Given the description of an element on the screen output the (x, y) to click on. 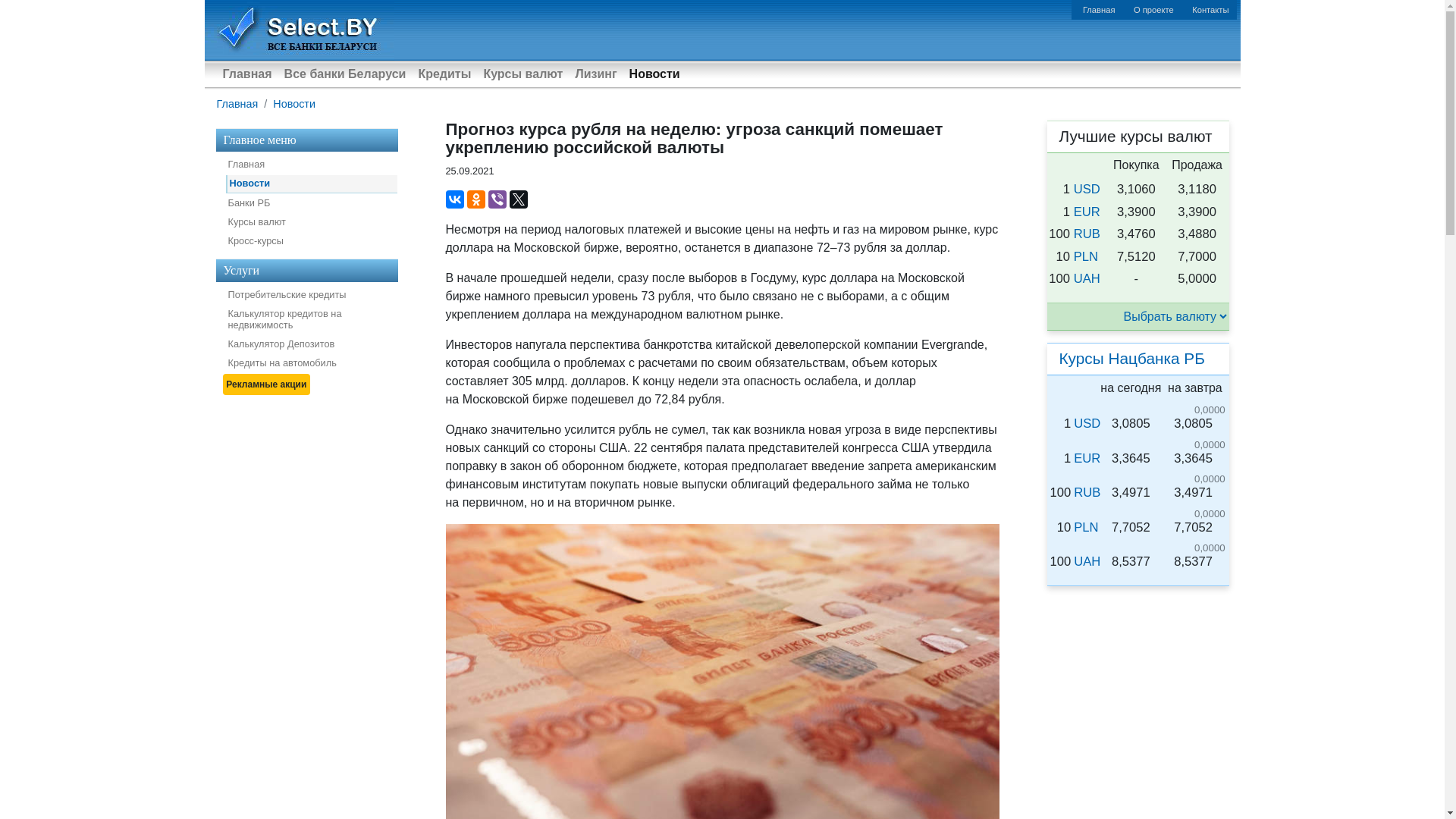
EUR Element type: text (1086, 659)
RUB Element type: text (1086, 694)
UAH Element type: text (1086, 480)
UAH Element type: text (1086, 763)
EUR Element type: text (1086, 413)
USD Element type: text (1086, 625)
PLN Element type: text (1085, 458)
Twitter Element type: hover (518, 199)
PLN Element type: text (1085, 728)
RUB Element type: text (1086, 435)
Viber Element type: hover (497, 199)
USD Element type: text (1086, 390)
